Given the description of an element on the screen output the (x, y) to click on. 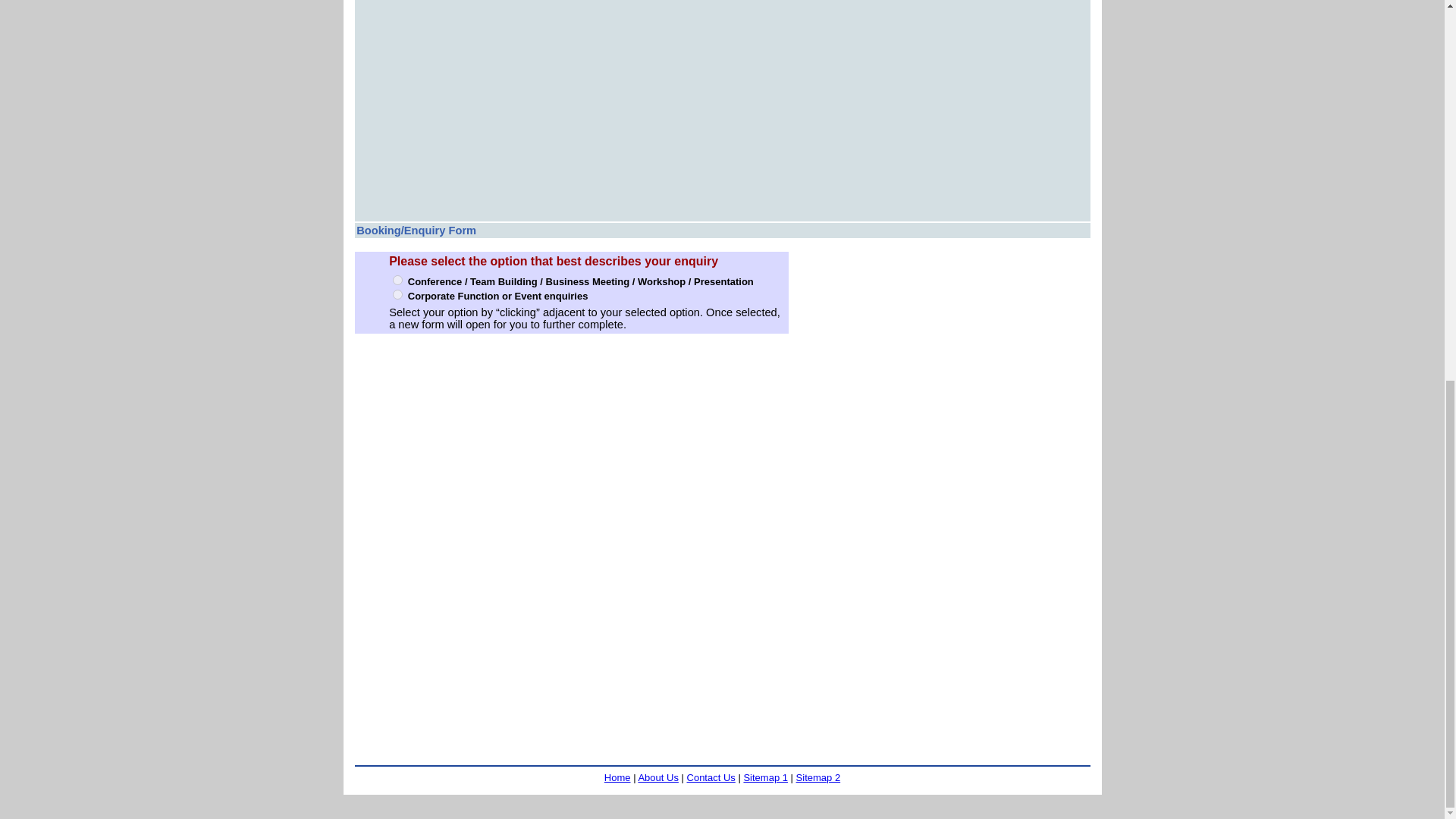
Sitemap 2 (818, 777)
Home (617, 777)
About Us (657, 777)
func (398, 294)
conf (398, 280)
Sitemap 1 (764, 777)
Contact Us (711, 777)
Submit (706, 719)
